Given the description of an element on the screen output the (x, y) to click on. 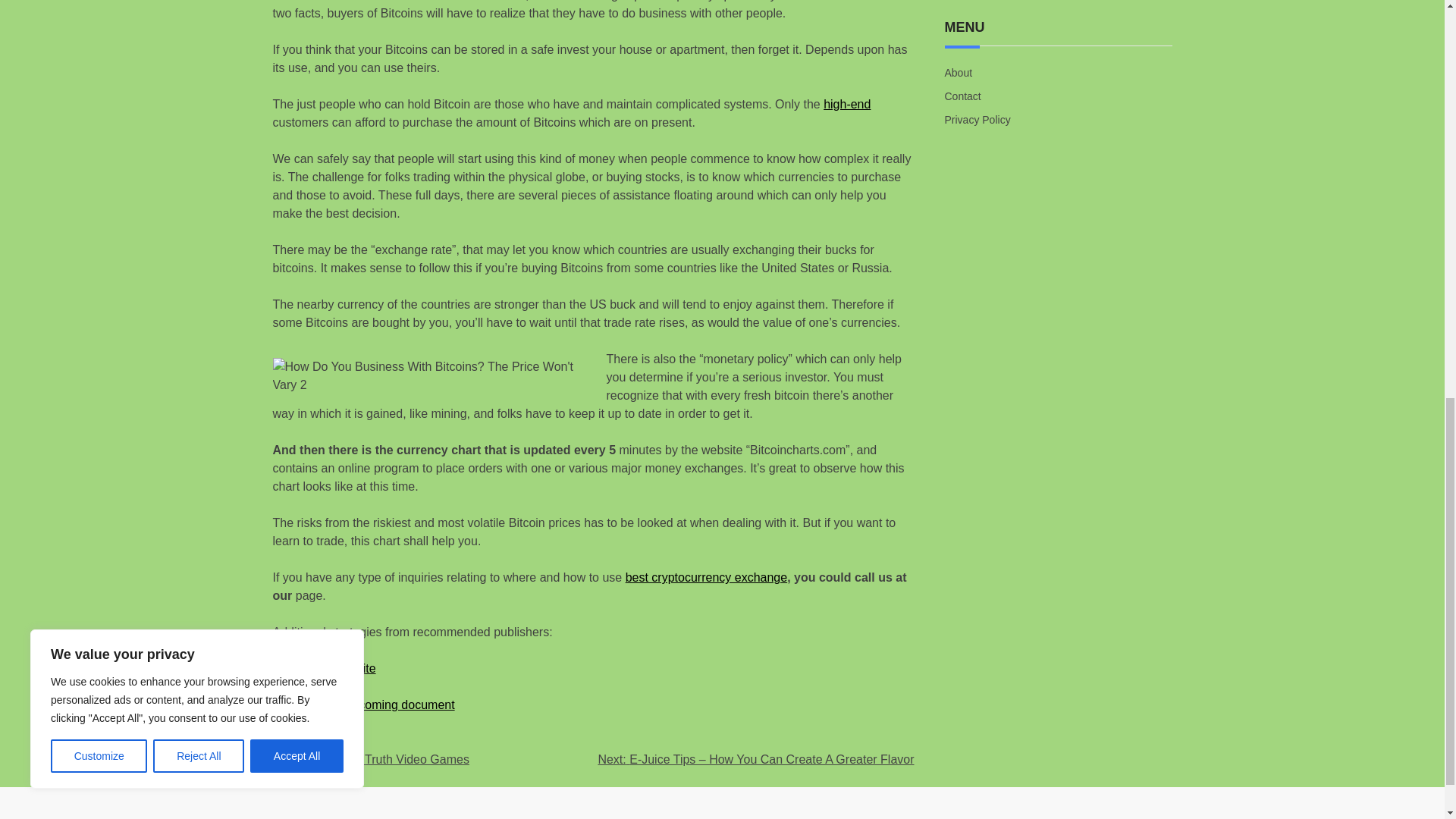
Greatest (327, 740)
just click the up coming document (363, 704)
Previous: Online Truth Video Games (370, 758)
high-end (847, 103)
Investigate this site (324, 667)
best cryptocurrency exchange (706, 576)
